Given the description of an element on the screen output the (x, y) to click on. 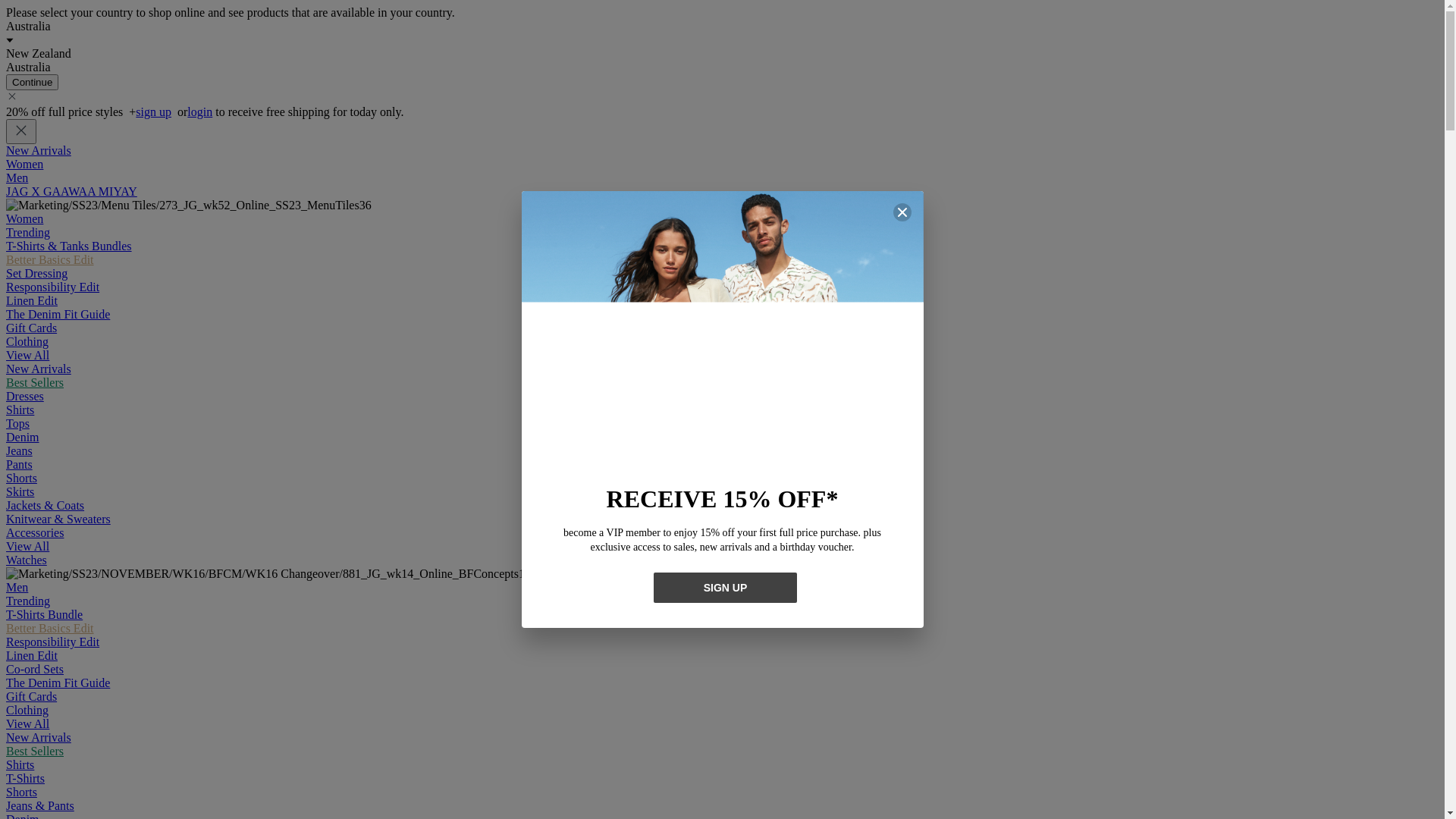
Dresses Element type: text (24, 395)
Trending Element type: text (28, 231)
Best Sellers Element type: text (34, 382)
sign up Element type: text (153, 111)
Accessories Element type: text (34, 532)
Shirts Element type: text (20, 409)
T-Shirts Element type: text (25, 777)
JAG X GAAWAA MIYAY Element type: text (71, 191)
Jeans Element type: text (19, 450)
Men Element type: text (17, 586)
Linen Edit Element type: text (31, 300)
Trending Element type: text (28, 600)
The Denim Fit Guide Element type: text (57, 313)
Co-ord Sets Element type: text (34, 668)
T-Shirts Bundle Element type: text (44, 614)
Set Dressing Element type: text (36, 272)
The Denim Fit Guide Element type: text (57, 682)
Continue Element type: text (32, 82)
New Arrivals Element type: text (38, 368)
Men Element type: text (17, 177)
Gift Cards Element type: text (31, 327)
T-Shirts & Tanks Bundles Element type: text (68, 245)
Linen Edit Element type: text (31, 655)
Pants Element type: text (19, 464)
Better Basics Edit Element type: text (50, 627)
Jackets & Coats Element type: text (45, 504)
Jeans & Pants Element type: text (40, 805)
Knitwear & Sweaters Element type: text (58, 518)
Women Element type: text (24, 163)
Responsibility Edit Element type: text (52, 641)
Responsibility Edit Element type: text (52, 286)
Tops Element type: text (17, 423)
Shirts Element type: text (20, 764)
New Arrivals Element type: text (38, 150)
Women Element type: text (24, 218)
View All Element type: text (27, 723)
SIGN UP Element type: text (725, 587)
Best Sellers Element type: text (34, 750)
View All Element type: text (27, 545)
New Arrivals Element type: text (38, 737)
Denim Element type: text (22, 436)
login Element type: text (199, 111)
Shorts Element type: text (21, 477)
Shorts Element type: text (21, 791)
Better Basics Edit Element type: text (50, 259)
Gift Cards Element type: text (31, 696)
Watches Element type: text (26, 559)
Clothing Element type: text (27, 709)
Clothing Element type: text (27, 341)
Skirts Element type: text (20, 491)
View All Element type: text (27, 354)
